Given the description of an element on the screen output the (x, y) to click on. 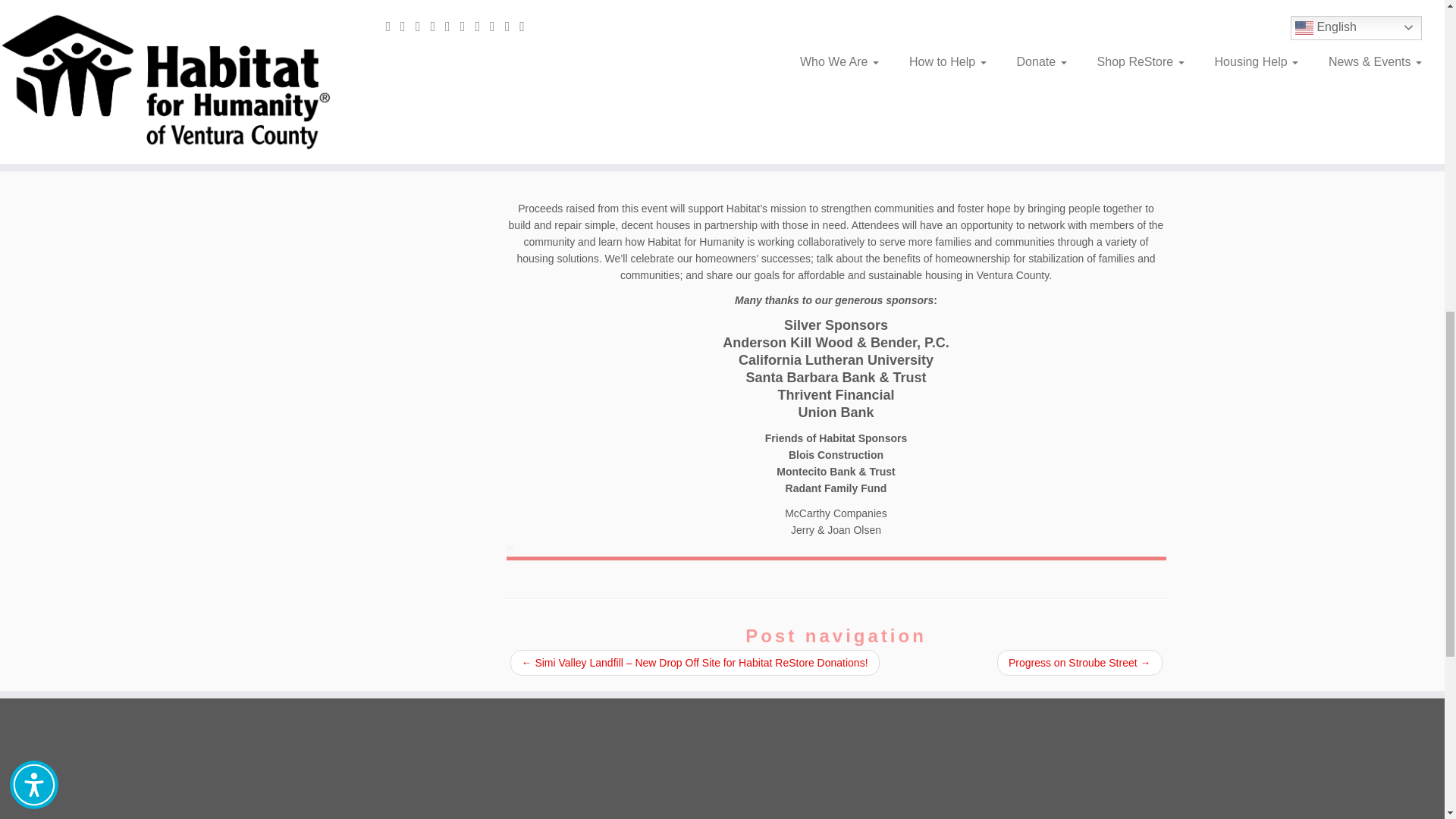
Accessibility Menu (34, 70)
